Given the description of an element on the screen output the (x, y) to click on. 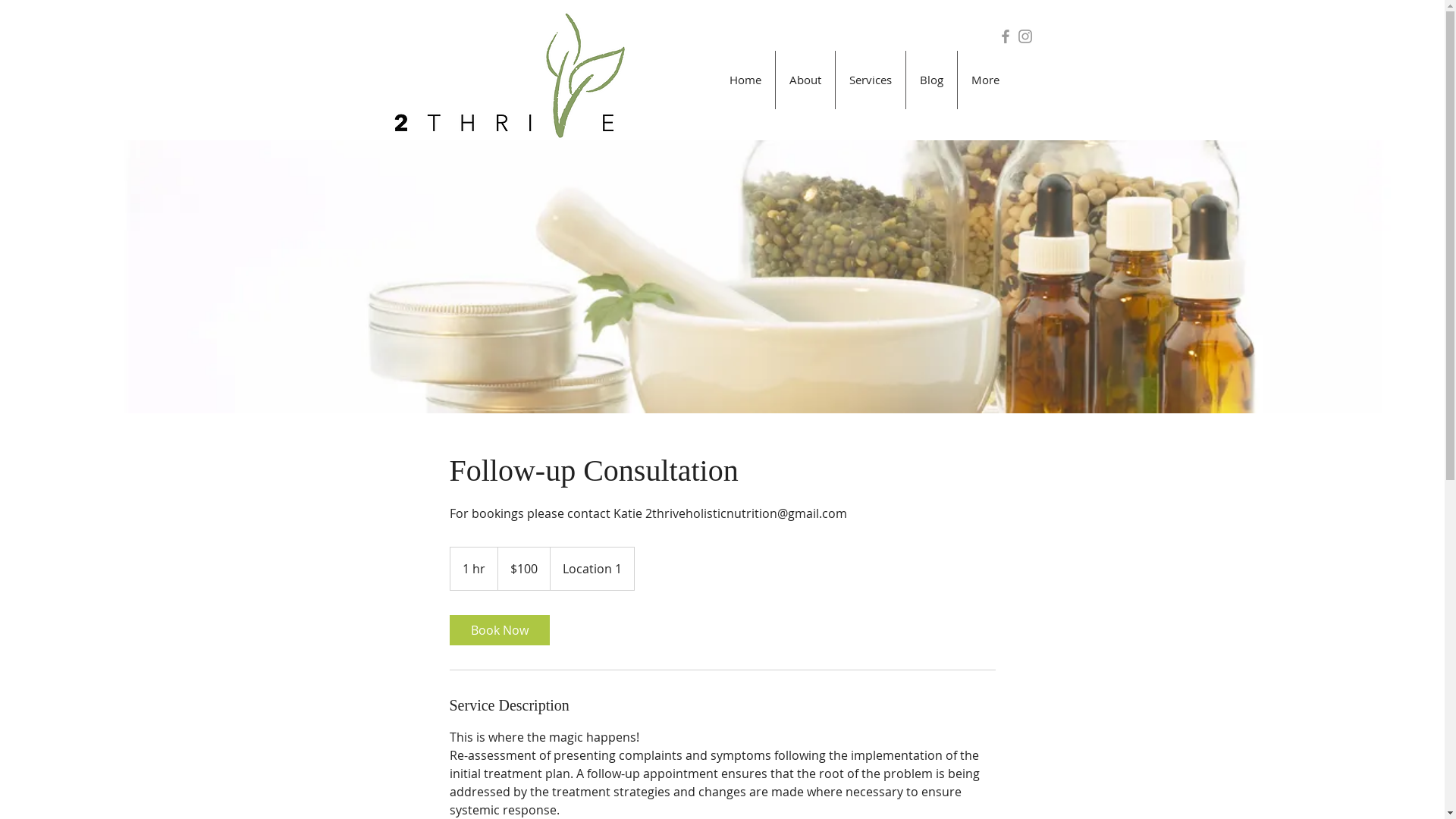
Book Now Element type: text (498, 630)
Services Element type: text (870, 79)
Screen Shot 2019-06-25 at 2.12.29 pm.png Element type: hover (508, 80)
About Element type: text (804, 79)
Home Element type: text (745, 79)
Blog Element type: text (930, 79)
